Given the description of an element on the screen output the (x, y) to click on. 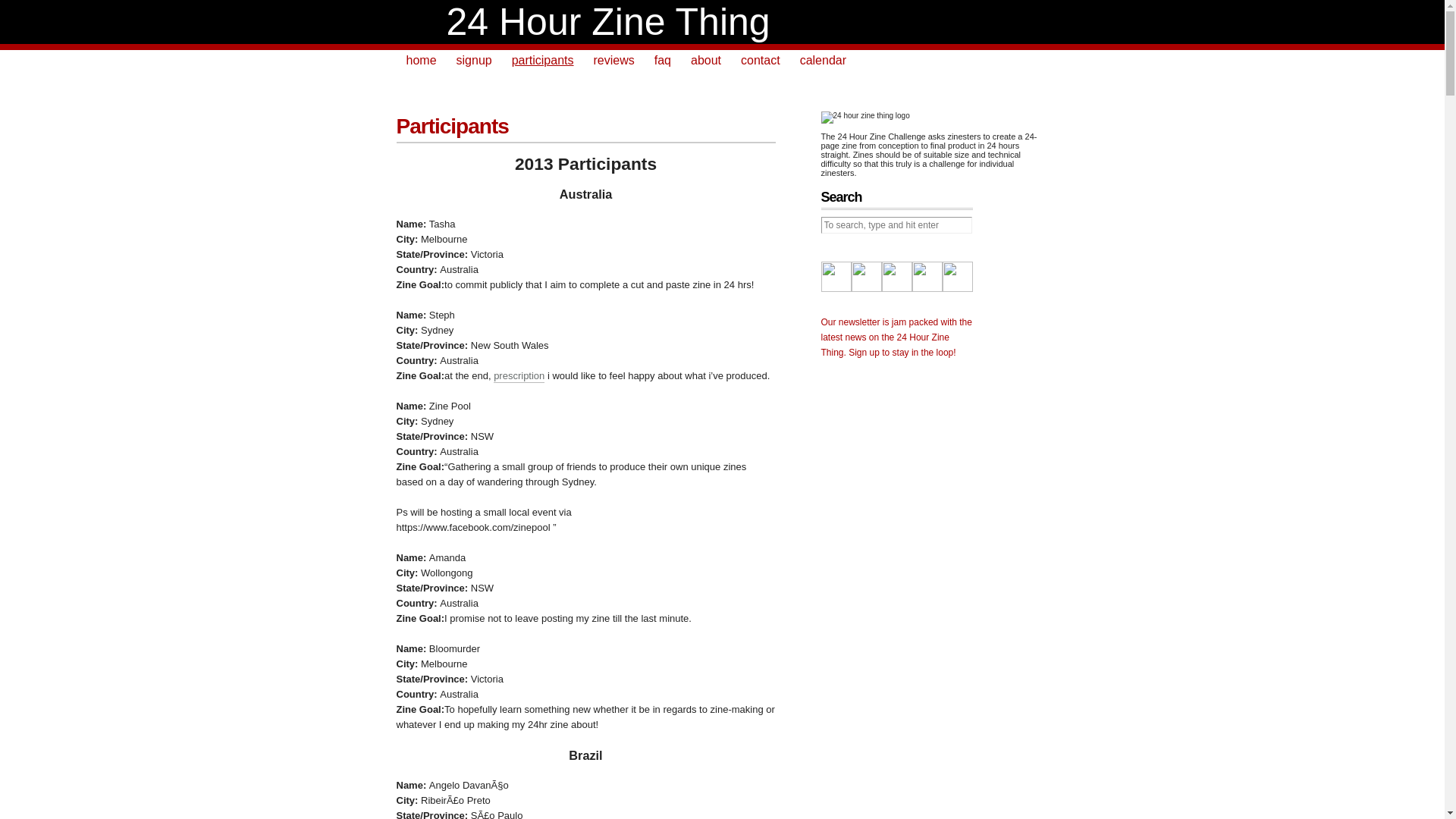
contact Element type: text (760, 61)
reviews Element type: text (613, 61)
calendar Element type: text (823, 61)
signup Element type: text (474, 61)
about Element type: text (705, 61)
prescription Element type: text (518, 375)
24 Hour Zine Thing Element type: text (607, 21)
home Element type: text (420, 61)
faq Element type: text (662, 61)
participants Element type: text (542, 61)
